Given the description of an element on the screen output the (x, y) to click on. 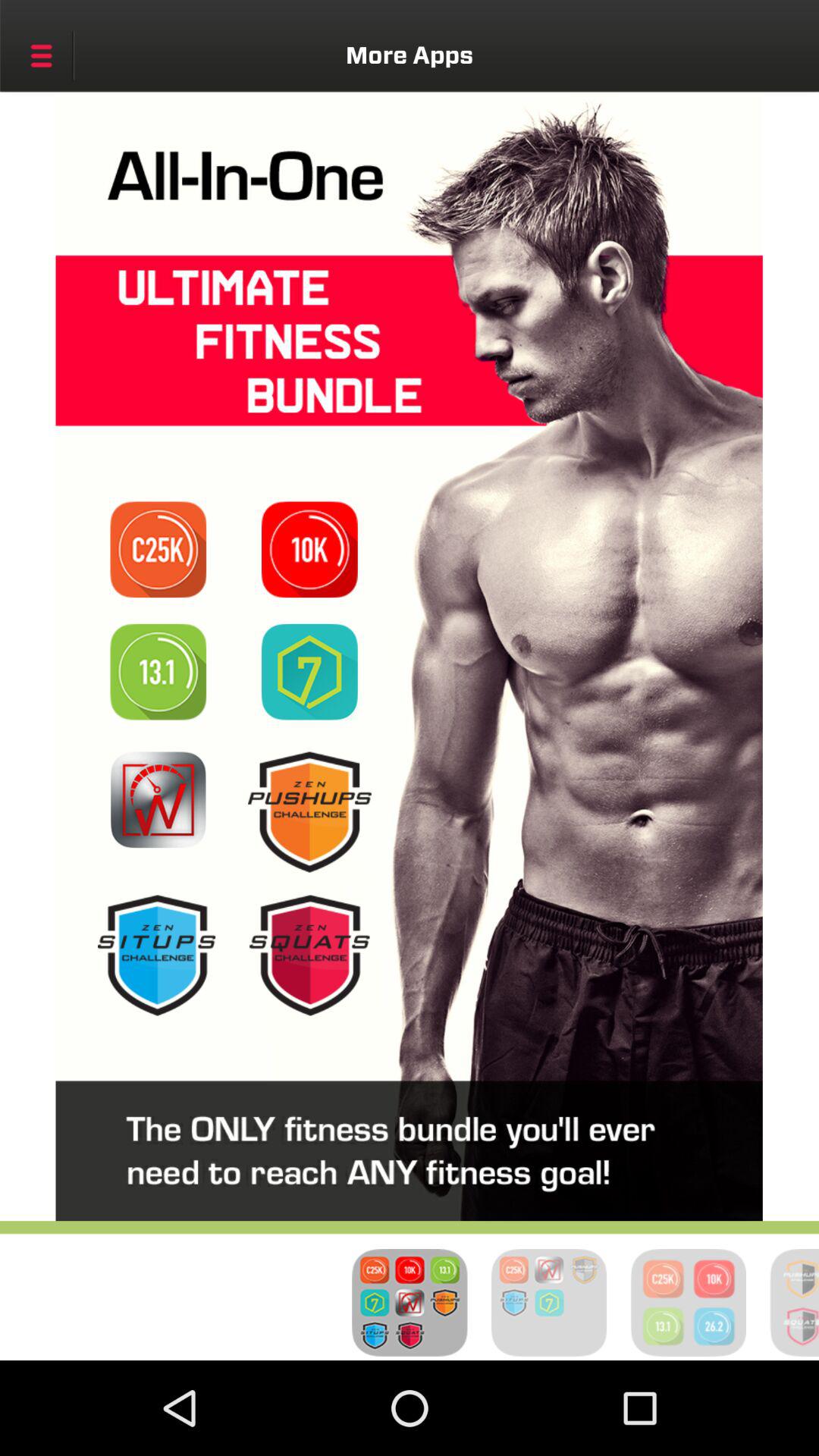
view list (309, 955)
